Given the description of an element on the screen output the (x, y) to click on. 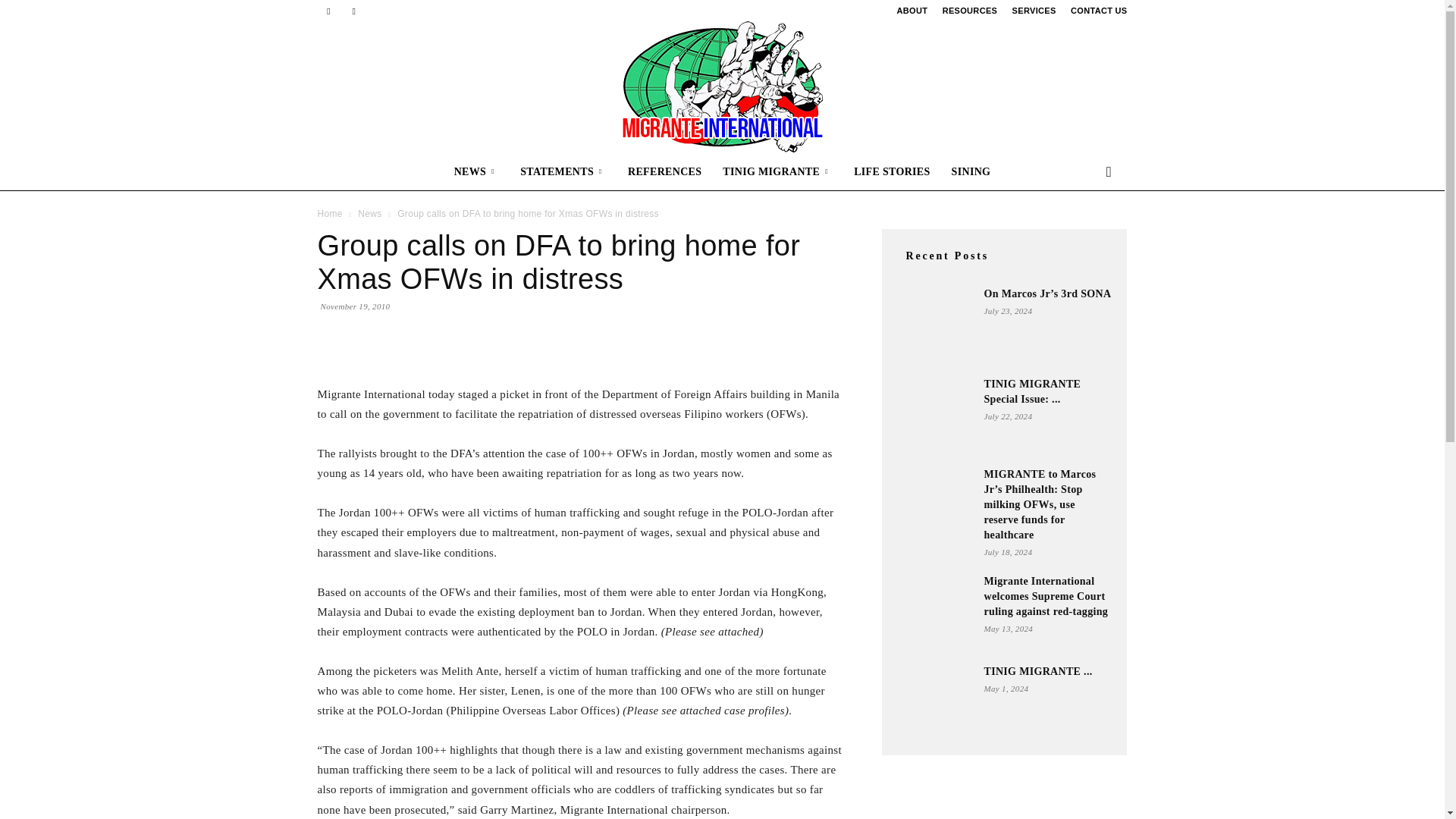
Twitter (353, 10)
RESOURCES (969, 10)
SERVICES (1034, 10)
NEWS (477, 171)
Facebook (328, 10)
STATEMENTS (563, 171)
ABOUT (912, 10)
CONTACT US (1098, 10)
